Given the description of an element on the screen output the (x, y) to click on. 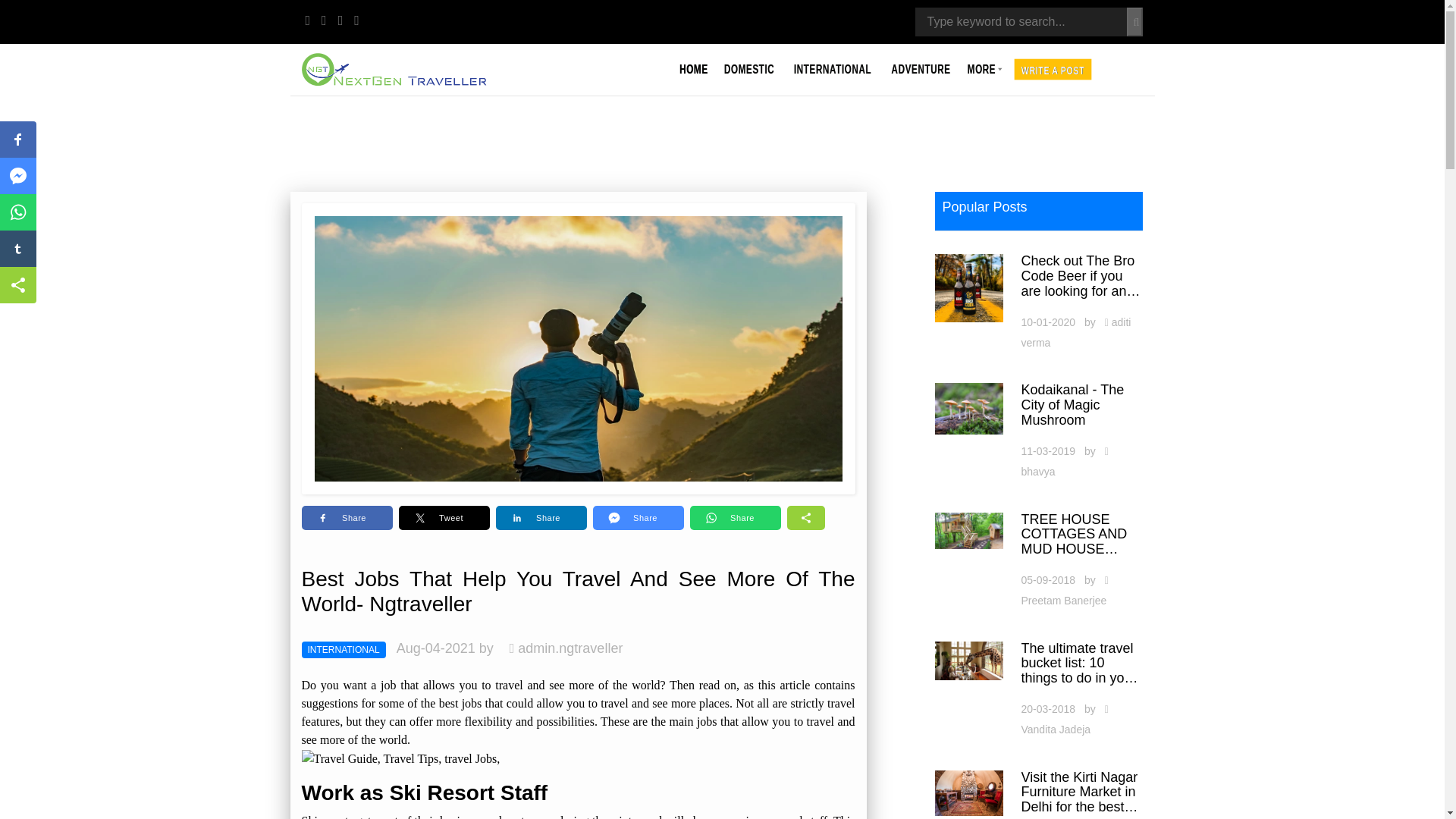
INTERNATIONAL (836, 64)
WRITE A POST (1057, 67)
ADVENTURE (924, 64)
MORE (987, 64)
DOMESTIC (753, 64)
